Given the description of an element on the screen output the (x, y) to click on. 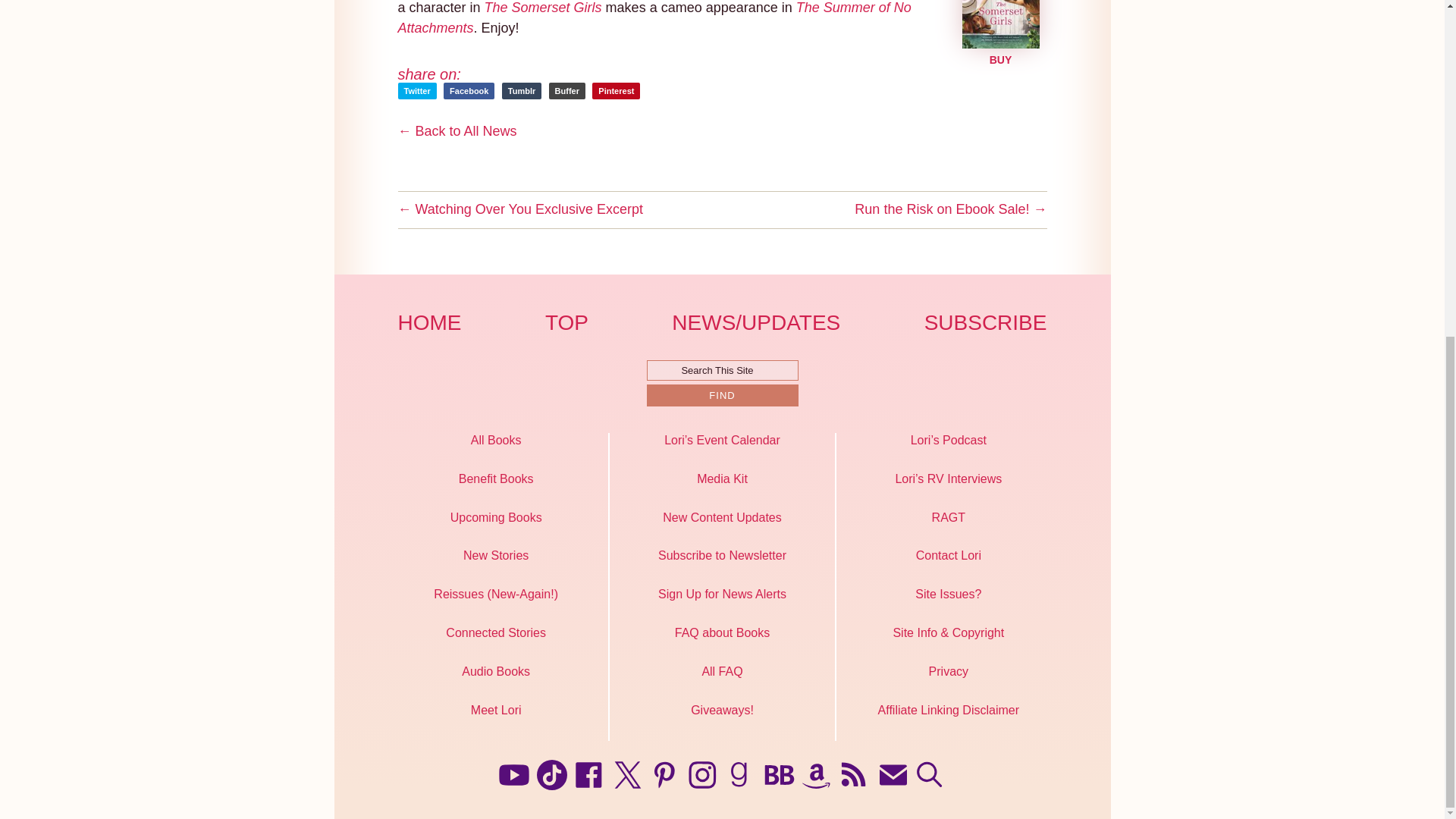
Search This Site (721, 370)
Search This Site (721, 370)
Search for: (721, 370)
Find (721, 395)
